Given the description of an element on the screen output the (x, y) to click on. 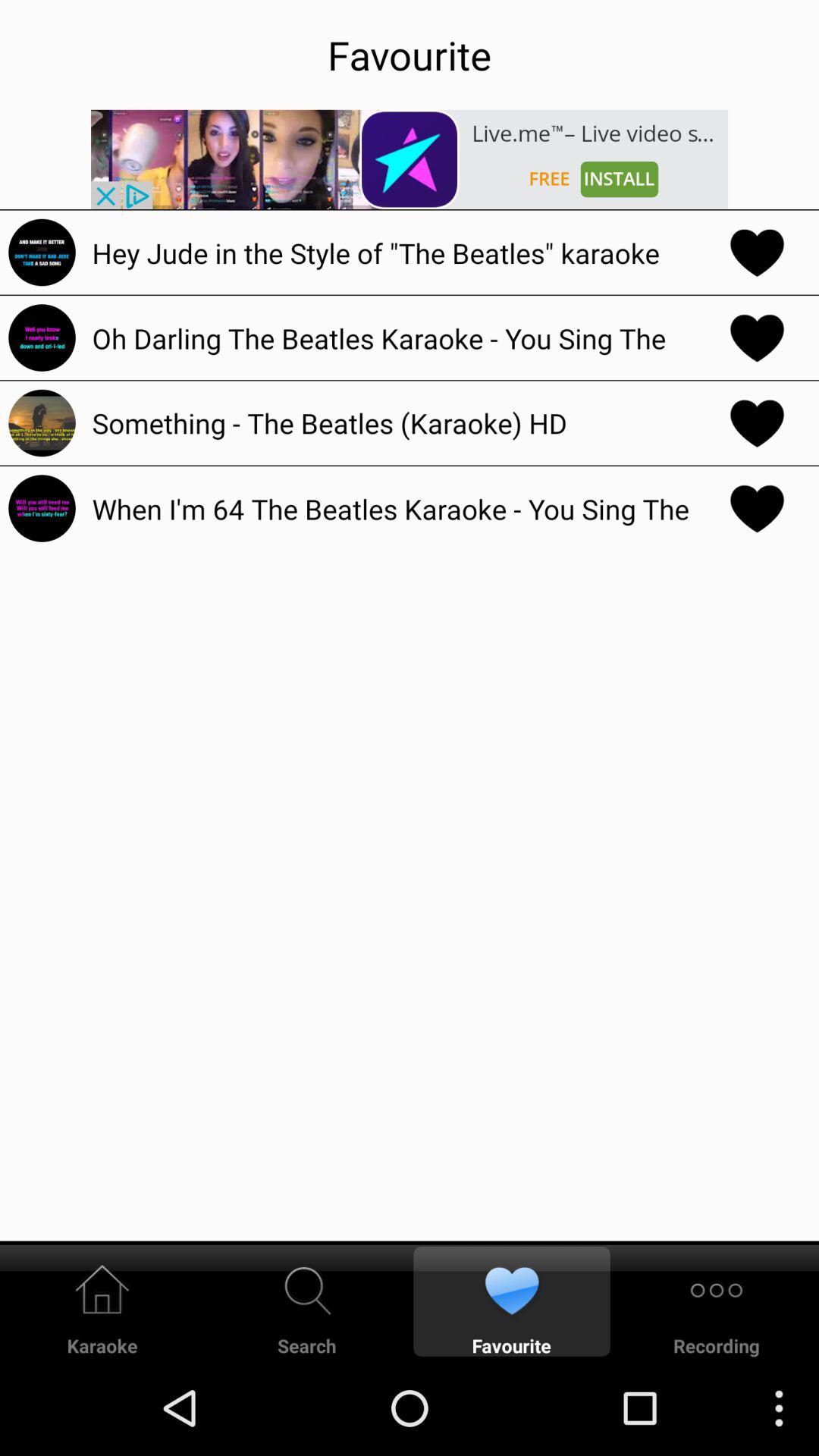
favourite the song (756, 252)
